Given the description of an element on the screen output the (x, y) to click on. 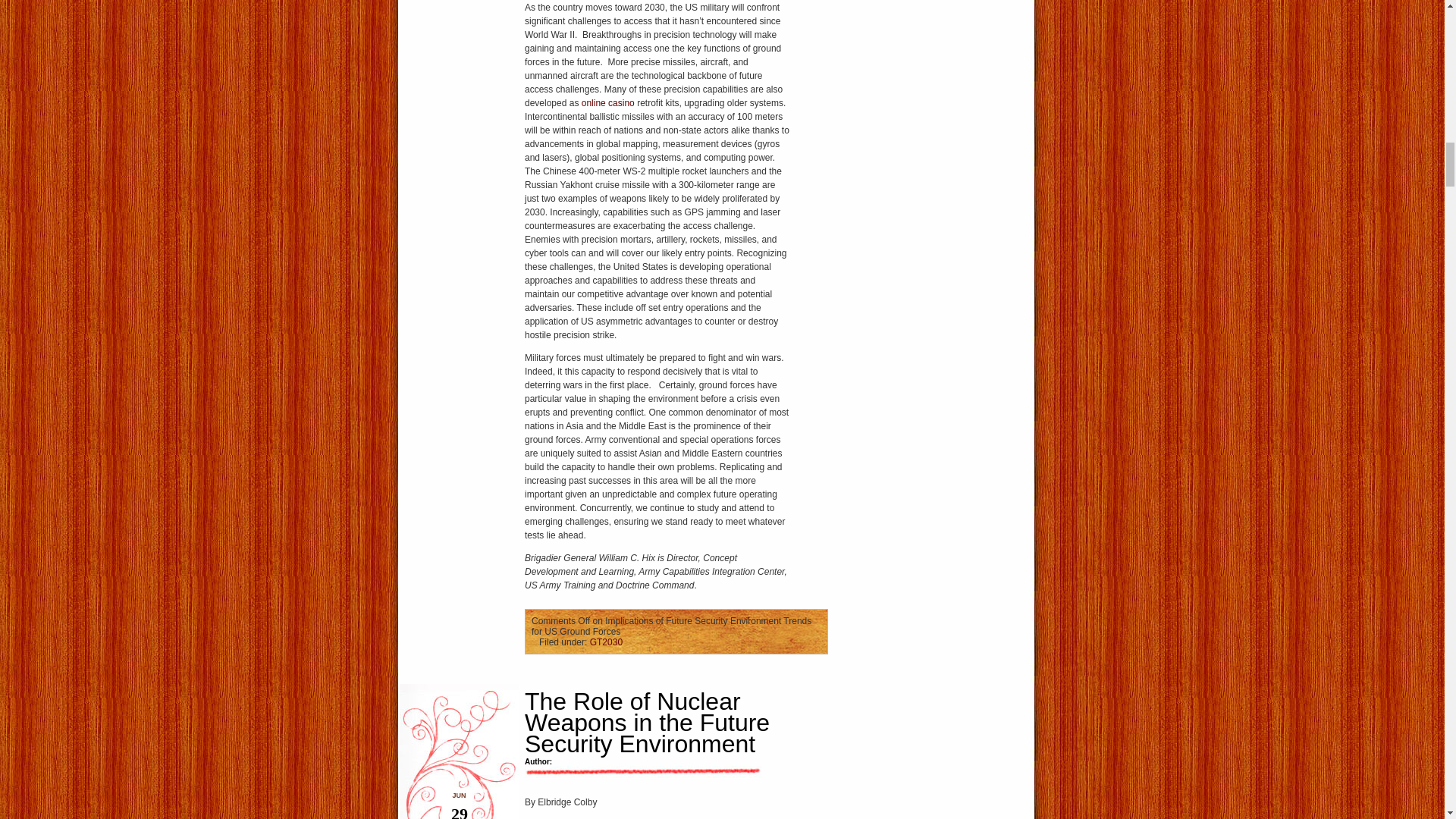
online casino (607, 102)
GT2030 (606, 642)
